Given the description of an element on the screen output the (x, y) to click on. 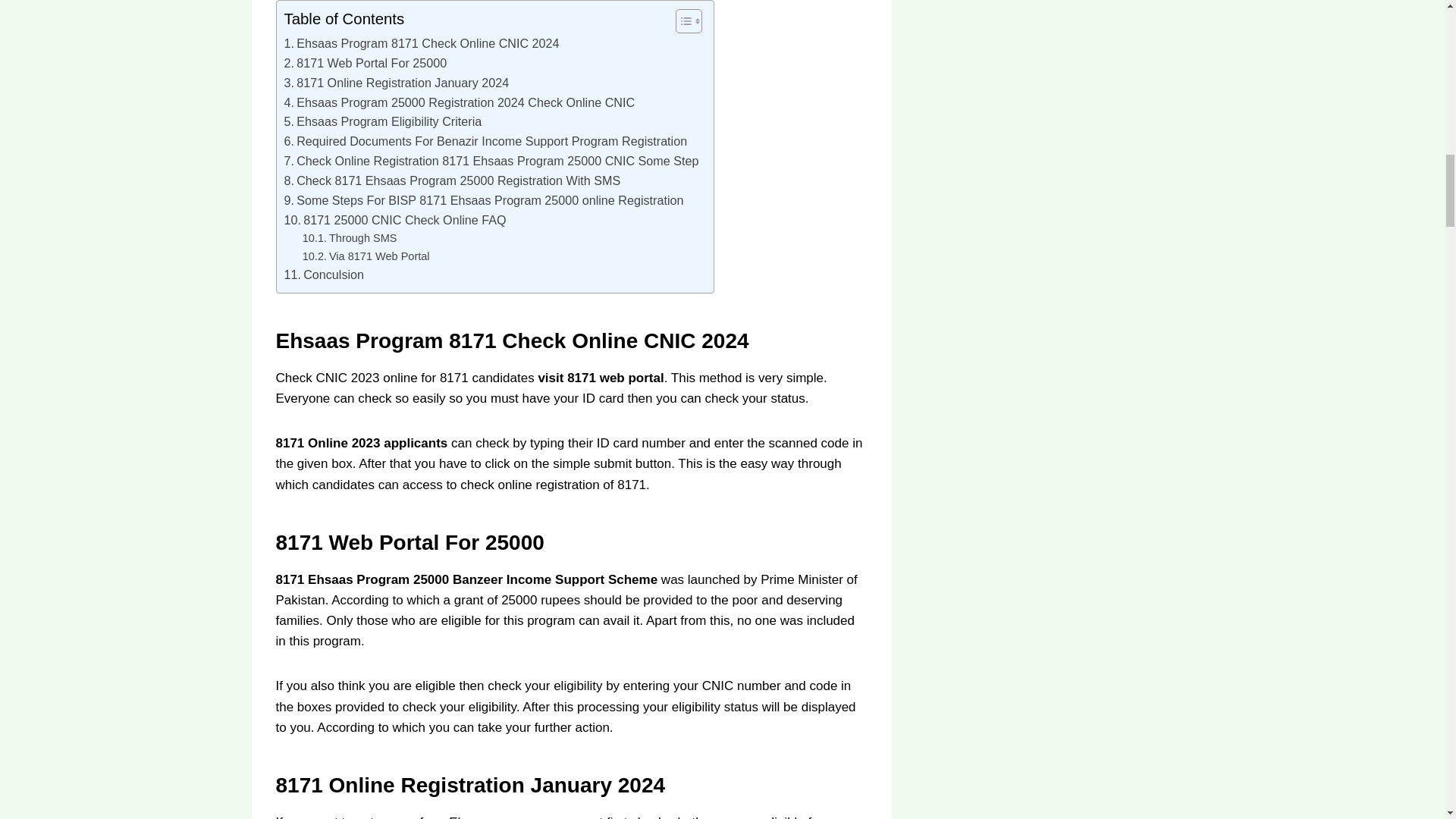
Check 8171 Ehsaas Program 25000 Registration With SMS (451, 180)
Ehsaas Program Eligibility Criteria (382, 121)
Ehsaas Program 25000 Registration 2024 Check Online CNIC (458, 103)
Conculsion (323, 275)
Through SMS (349, 238)
8171 25000 CNIC Check Online FAQ (394, 220)
8171 Online Registration January 2024 (395, 83)
Ehsaas Program 8171 Check Online CNIC 2024 (421, 44)
